Given the description of an element on the screen output the (x, y) to click on. 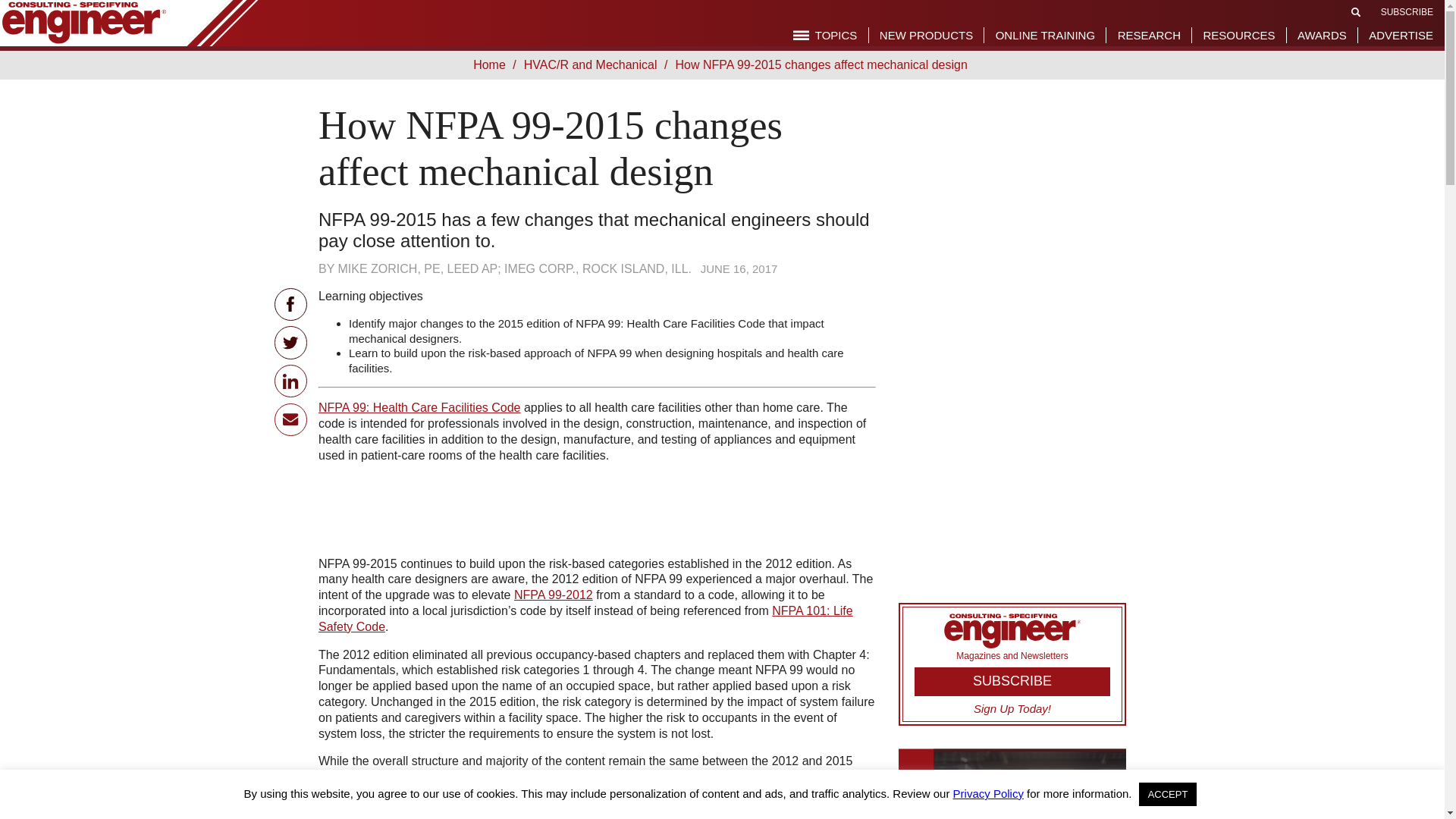
NFPA 99: Health Care Facilities Code (418, 407)
LinkedIn (291, 380)
Email (291, 419)
Home (492, 64)
NEW PRODUCTS (925, 34)
SUBSCRIBE (1406, 11)
Twitter (291, 341)
How NFPA 99-2015 changes affect mechanical design (823, 64)
MIKE ZORICH, PE, LEED AP; IMEG CORP., ROCK ISLAND, ILL. (515, 268)
TOPICS (824, 34)
